Given the description of an element on the screen output the (x, y) to click on. 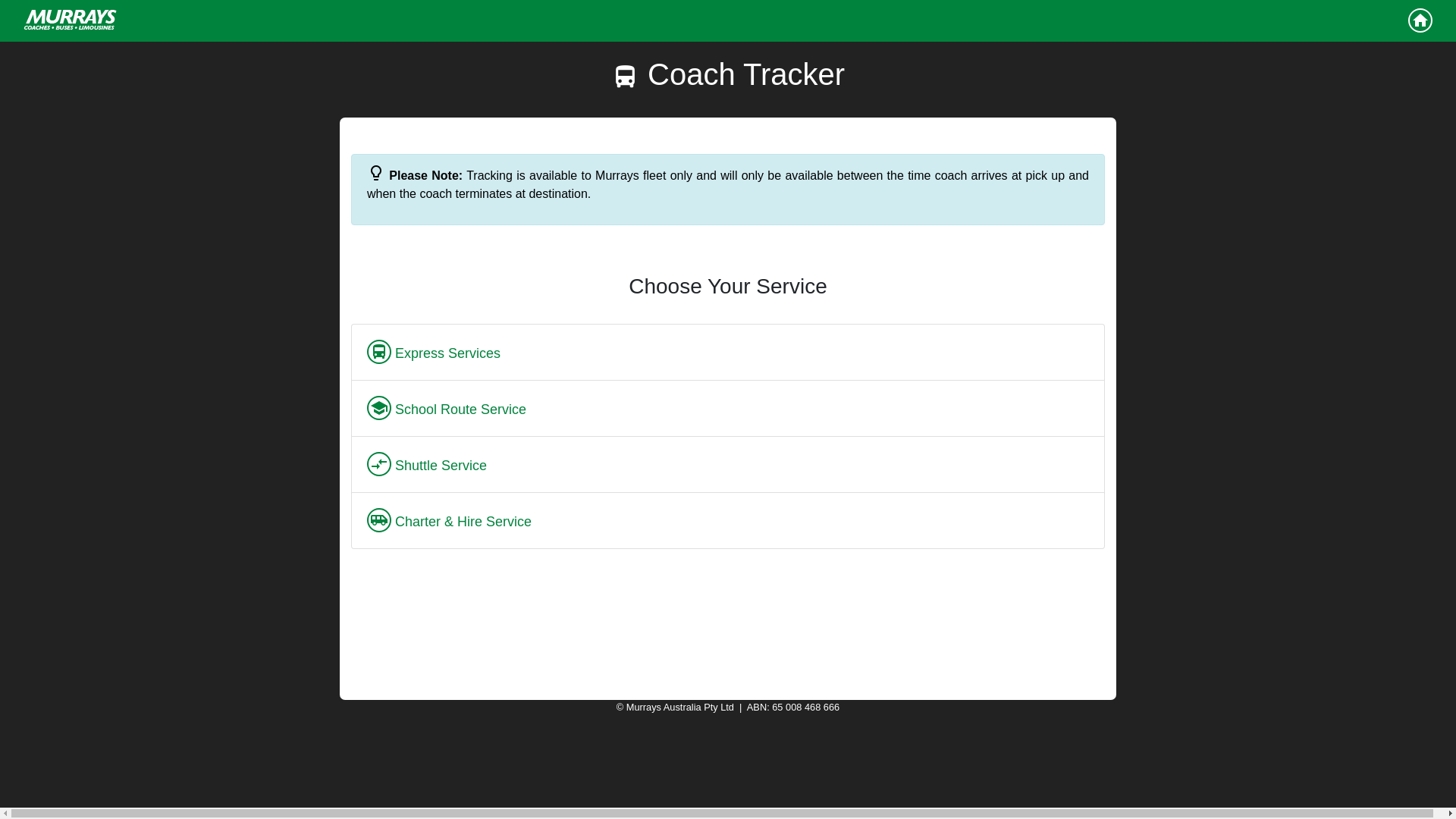
home Element type: text (1420, 20)
compare_arrows Shuttle Service Element type: text (727, 464)
directions_bus Express Services Element type: text (727, 351)
school School Route Service Element type: text (727, 407)
airport_shuttle Charter & Hire Service Element type: text (727, 520)
